Given the description of an element on the screen output the (x, y) to click on. 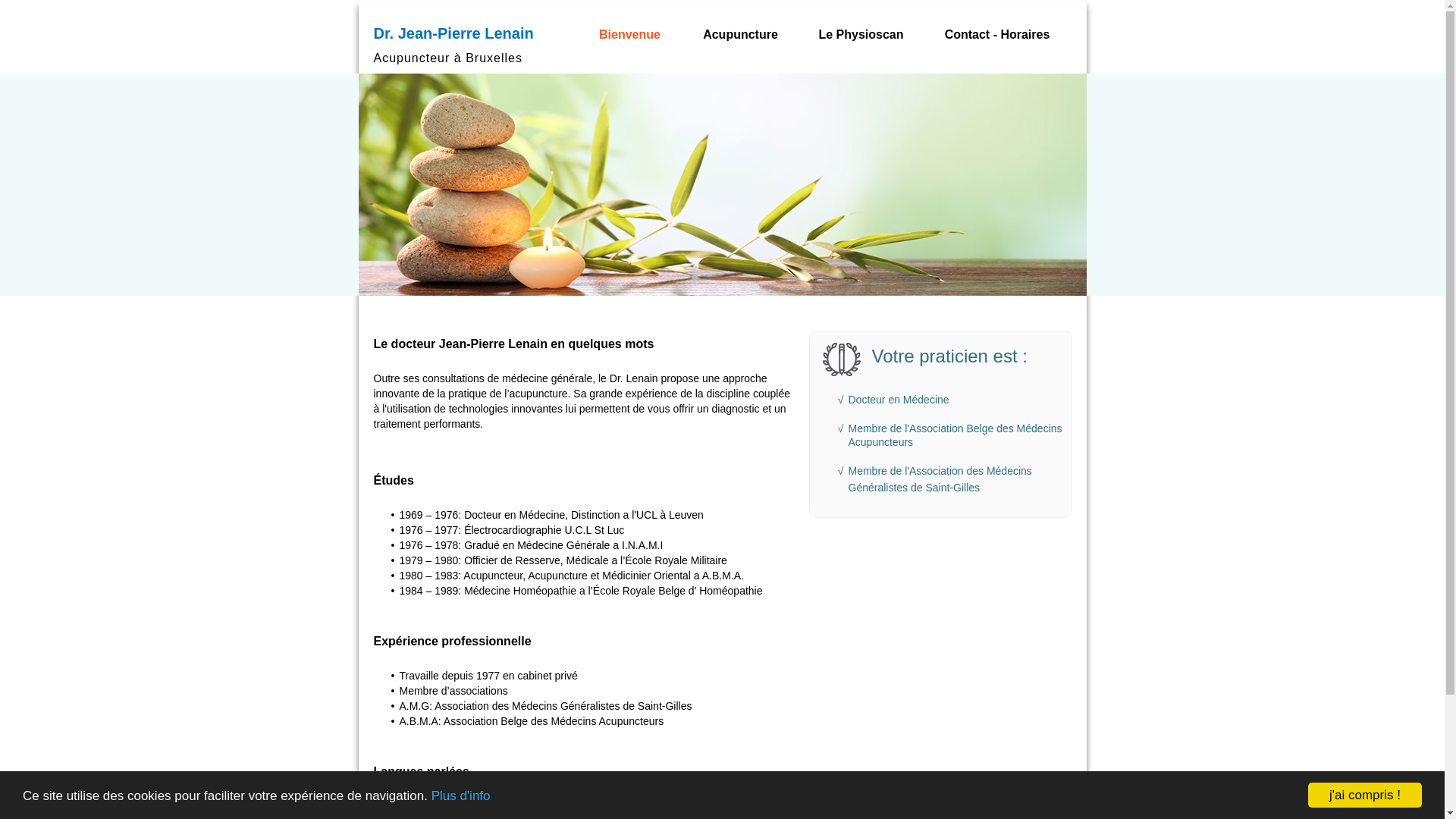
Plus d'info Element type: text (460, 795)
Contact - Horaires Element type: text (996, 34)
j'ai compris ! Element type: text (1364, 794)
Acupuncture Element type: text (740, 34)
Bienvenue Element type: text (629, 34)
Le Physioscan Element type: text (861, 34)
